Given the description of an element on the screen output the (x, y) to click on. 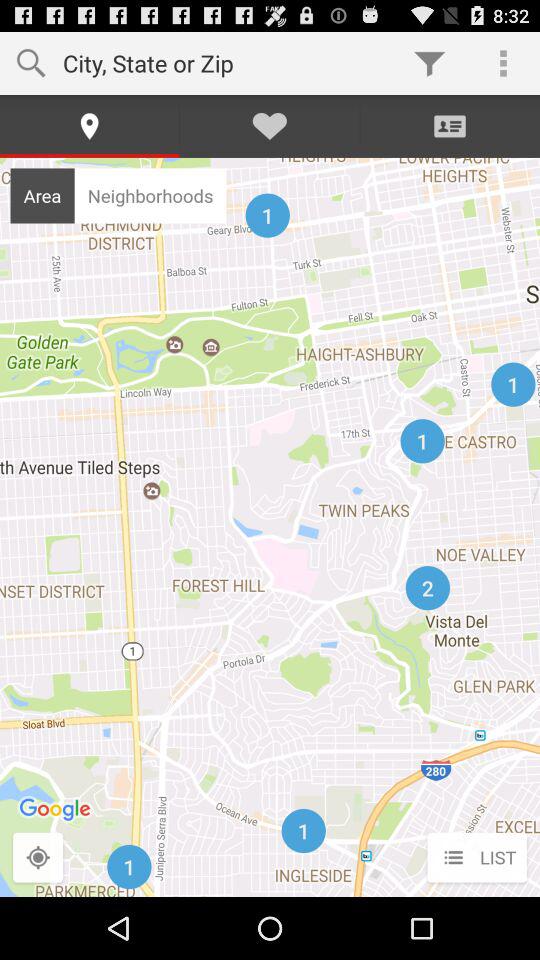
showa the view icon (37, 858)
